Given the description of an element on the screen output the (x, y) to click on. 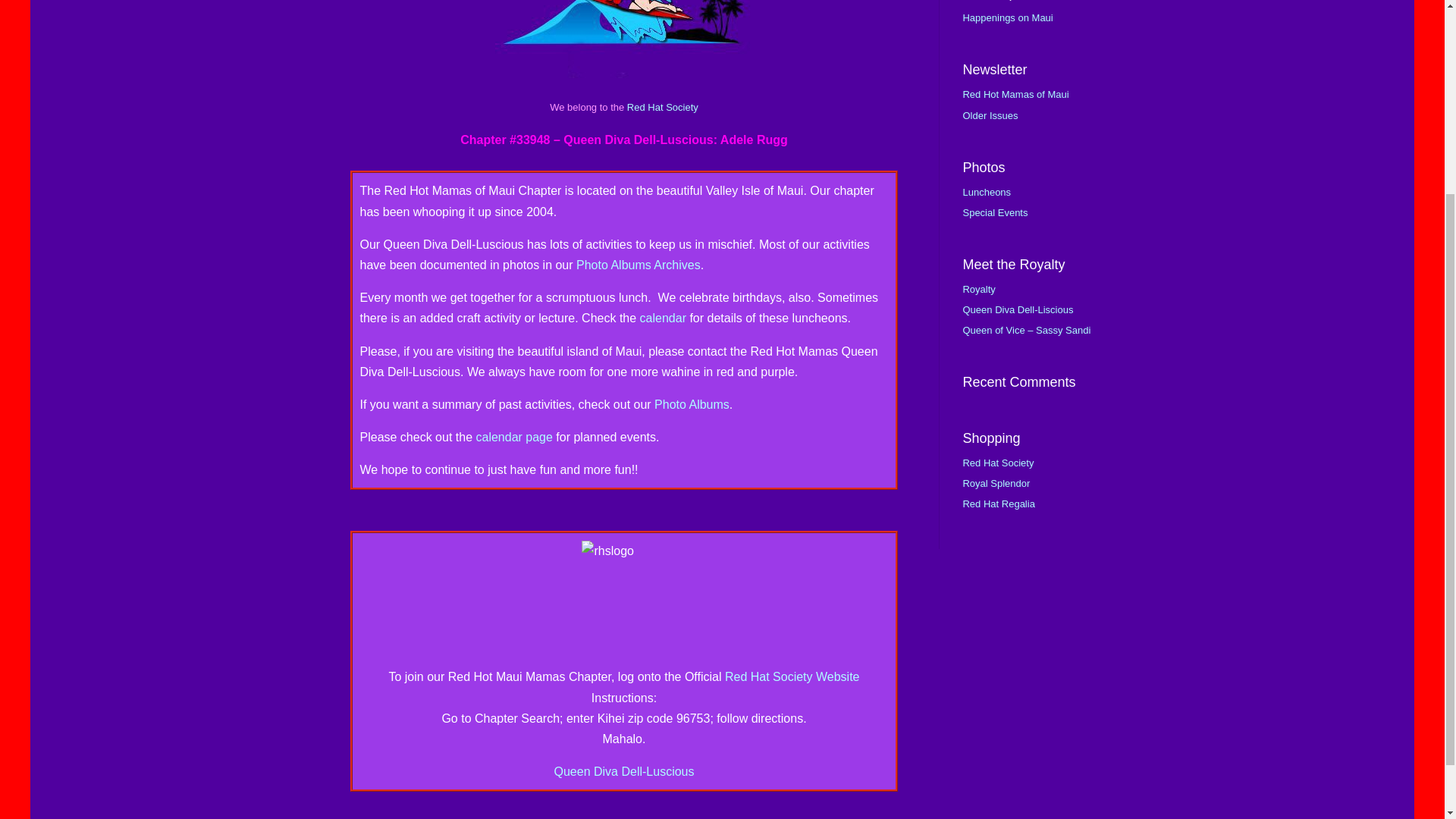
Red Hat Regalia (997, 503)
Special Events (994, 212)
Queen Diva Dell-Liscious (1017, 309)
Older Issues (989, 115)
Royalty (978, 288)
Royal Splendor (995, 482)
Red Hat Society (662, 107)
Luncheons (986, 192)
calendar (662, 318)
Photo Albums (691, 404)
Happenings on Maui (1007, 17)
Red Hat Society (997, 462)
Photo Albums Archives (638, 264)
Red Hot Mamas of Maui (1015, 93)
Red Hat Society Website (792, 676)
